Given the description of an element on the screen output the (x, y) to click on. 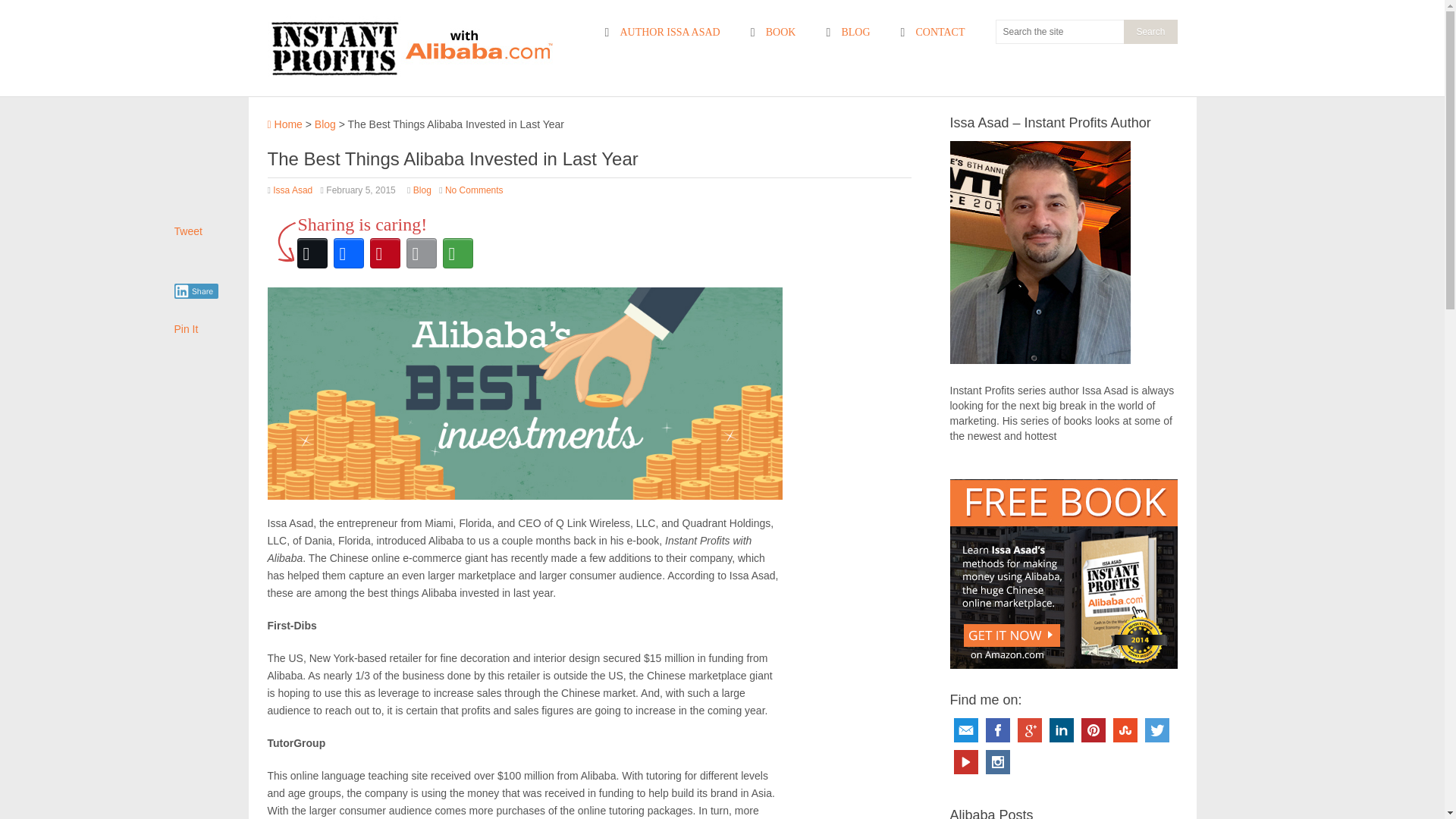
Blog (421, 190)
Search (1150, 31)
AUTHOR ISSA ASAD (661, 32)
Facebook (997, 730)
Search (1150, 31)
Posts by Issa Asad (293, 190)
Email This (421, 253)
BLOG (847, 32)
More Options (457, 253)
No Comments (474, 190)
Pin It (186, 328)
Email (965, 730)
Issa Asad (293, 190)
Pinterest (1093, 730)
Tweet (188, 231)
